Given the description of an element on the screen output the (x, y) to click on. 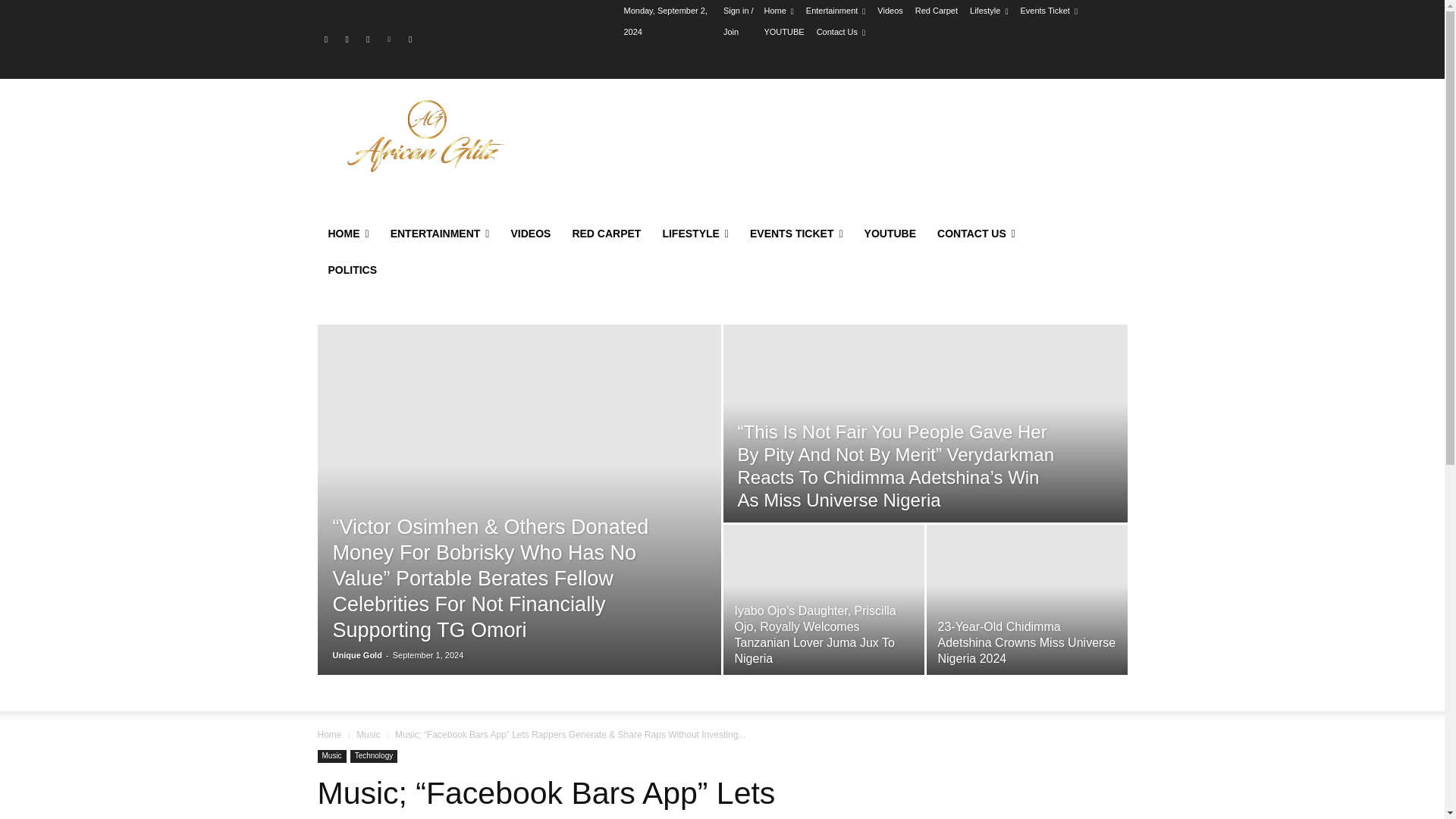
Instagram (346, 39)
Youtube (410, 39)
Home (777, 10)
Vimeo (388, 39)
Facebook (325, 39)
Entertainment (836, 10)
Twitter (368, 39)
